Given the description of an element on the screen output the (x, y) to click on. 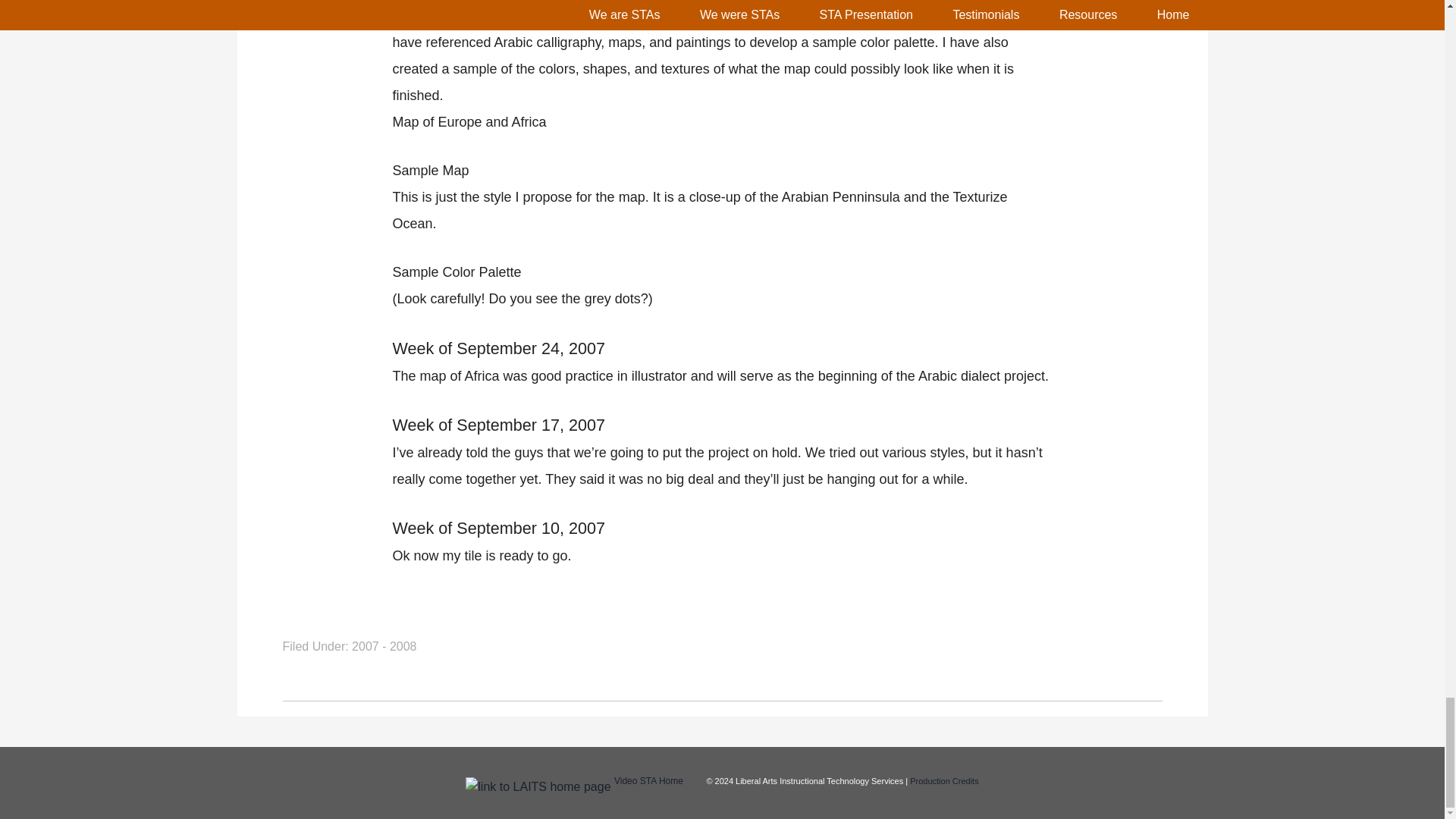
Video STA Home (648, 780)
2007 - 2008 (384, 645)
Production Credits (944, 780)
